Given the description of an element on the screen output the (x, y) to click on. 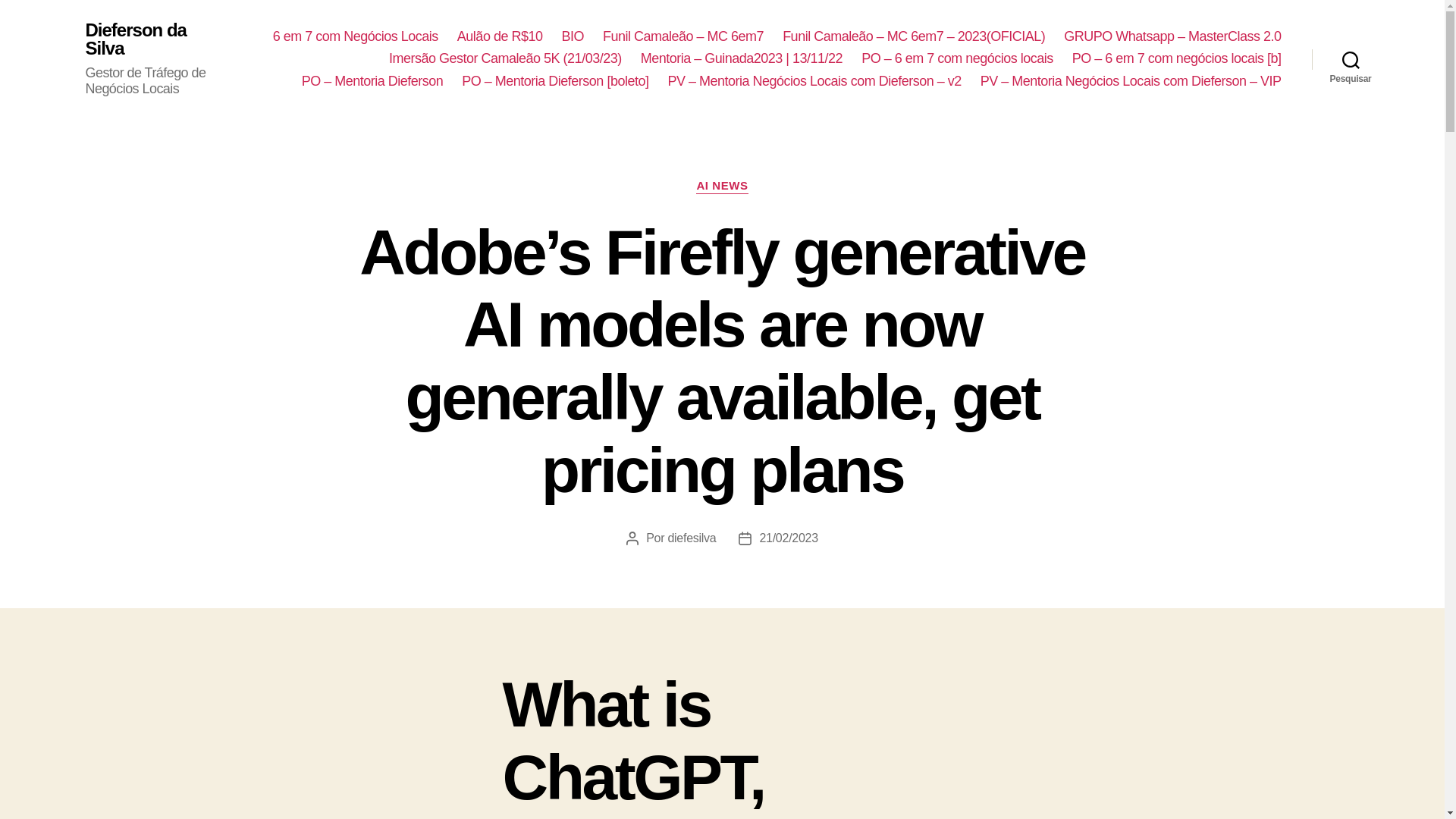
BIO (571, 36)
Pesquisar (1350, 59)
diefesilva (691, 537)
Dieferson da Silva (154, 39)
AI NEWS (721, 186)
